Given the description of an element on the screen output the (x, y) to click on. 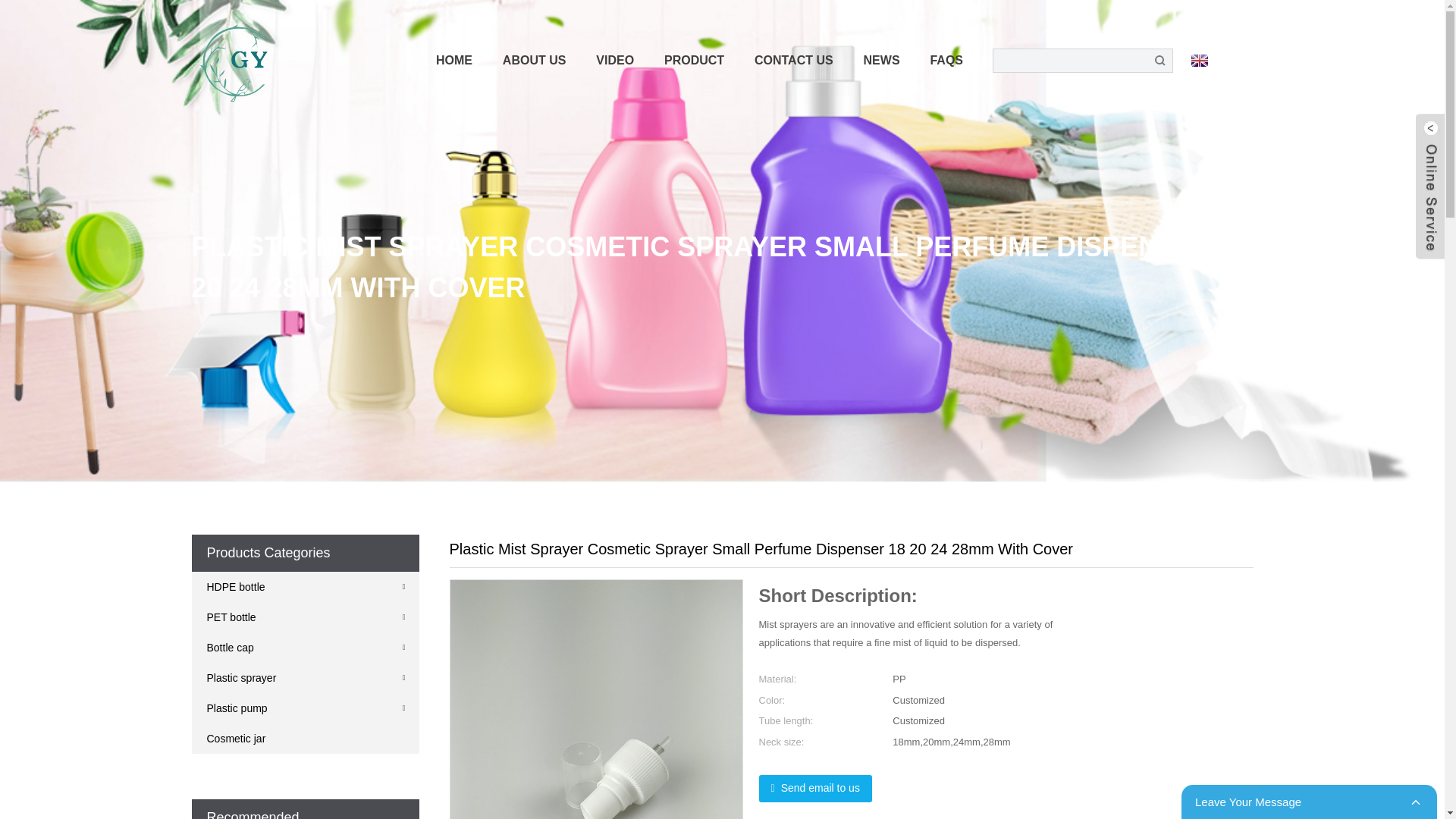
NEWS (882, 60)
PRODUCT (694, 60)
ABOUT US (534, 60)
HOME (454, 60)
CONTACT US (794, 60)
VIDEO (614, 60)
